Given the description of an element on the screen output the (x, y) to click on. 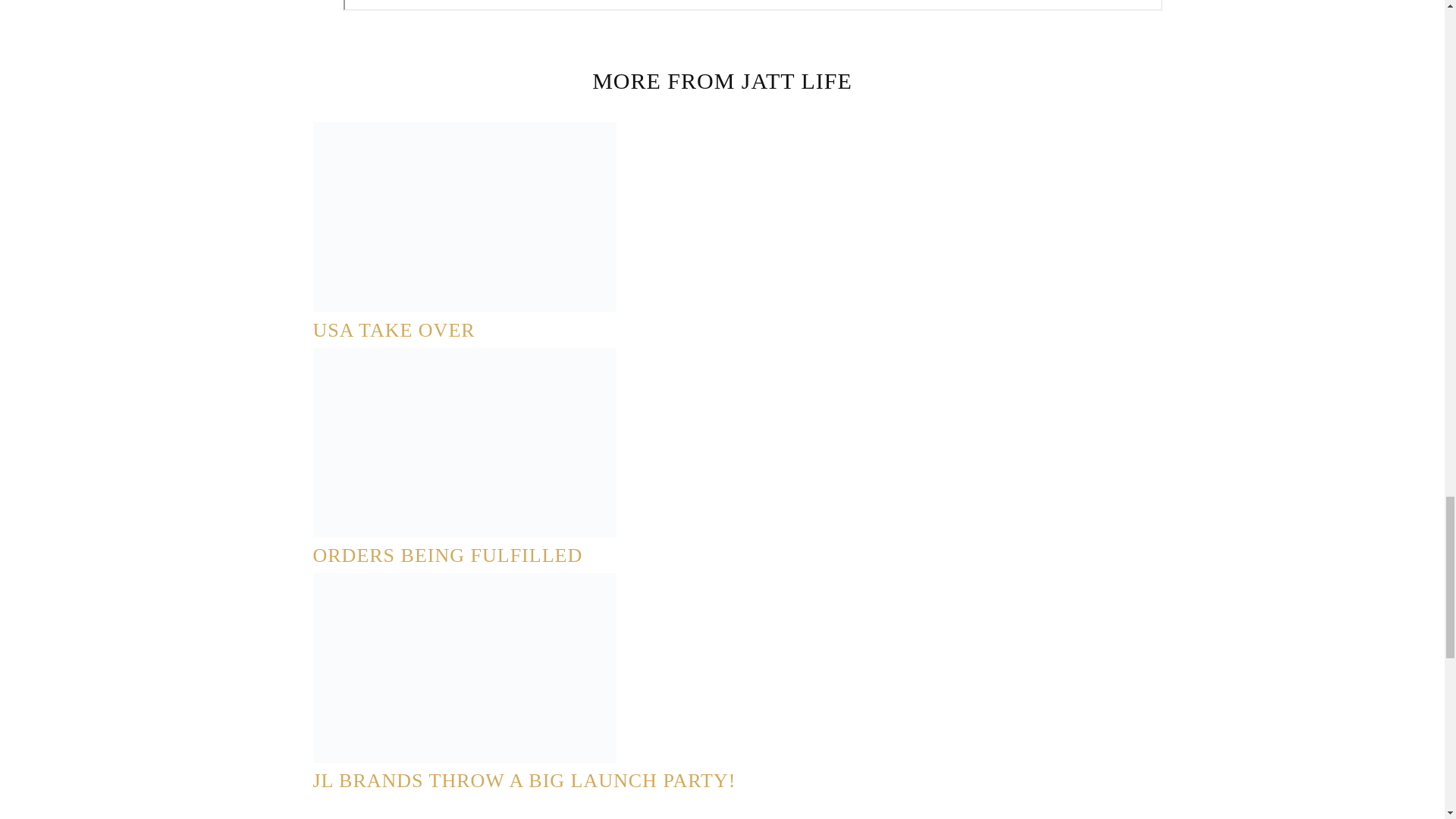
USA TAKE OVER (393, 330)
ORDERS BEING FULFILLED (447, 555)
JL BRANDS THROW A BIG LAUNCH PARTY! (524, 780)
